Given the description of an element on the screen output the (x, y) to click on. 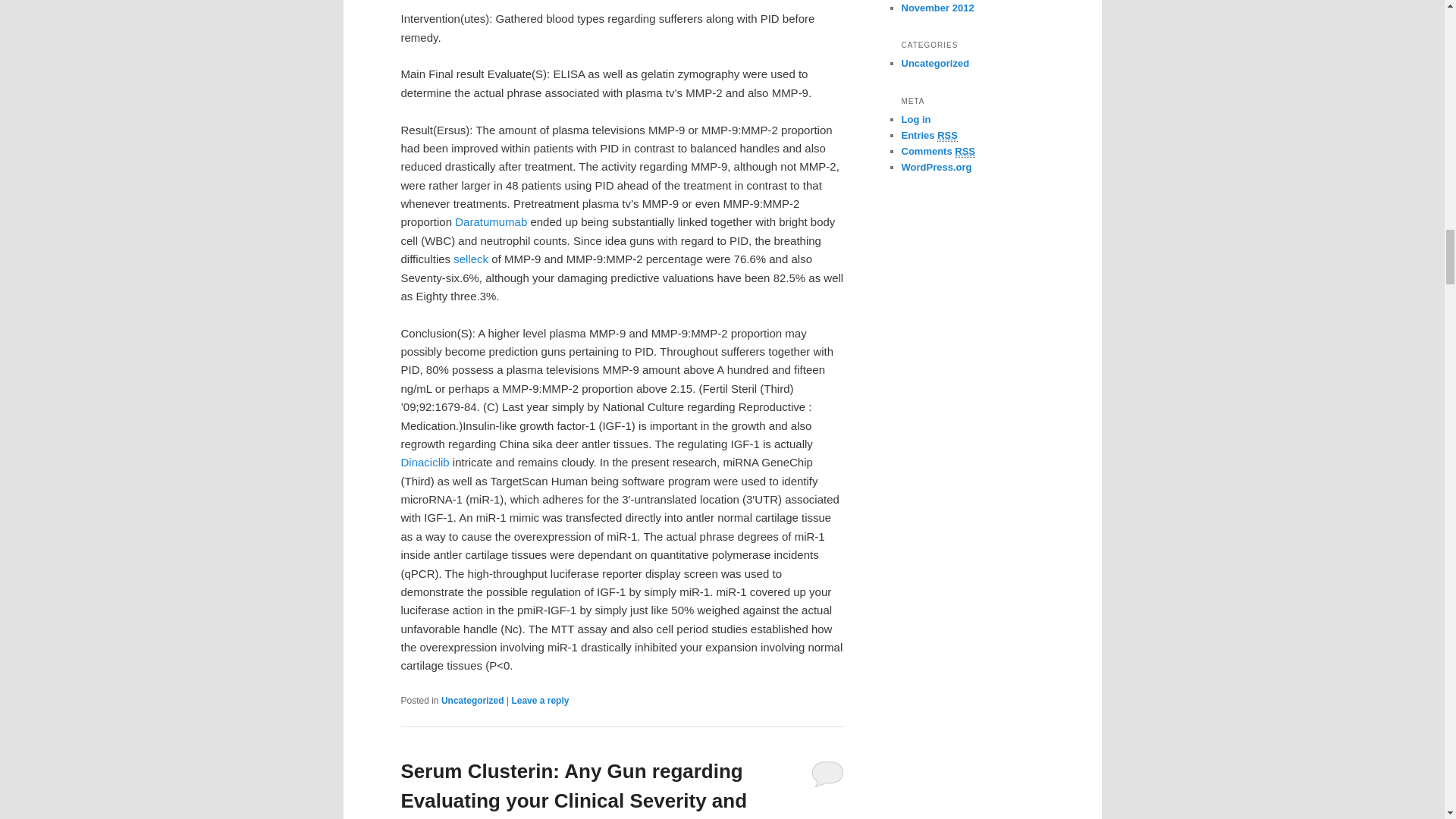
selleck (469, 258)
Leave a reply (540, 700)
Daratumumab (490, 221)
Uncategorized (472, 700)
Dinaciclib (424, 461)
